Given the description of an element on the screen output the (x, y) to click on. 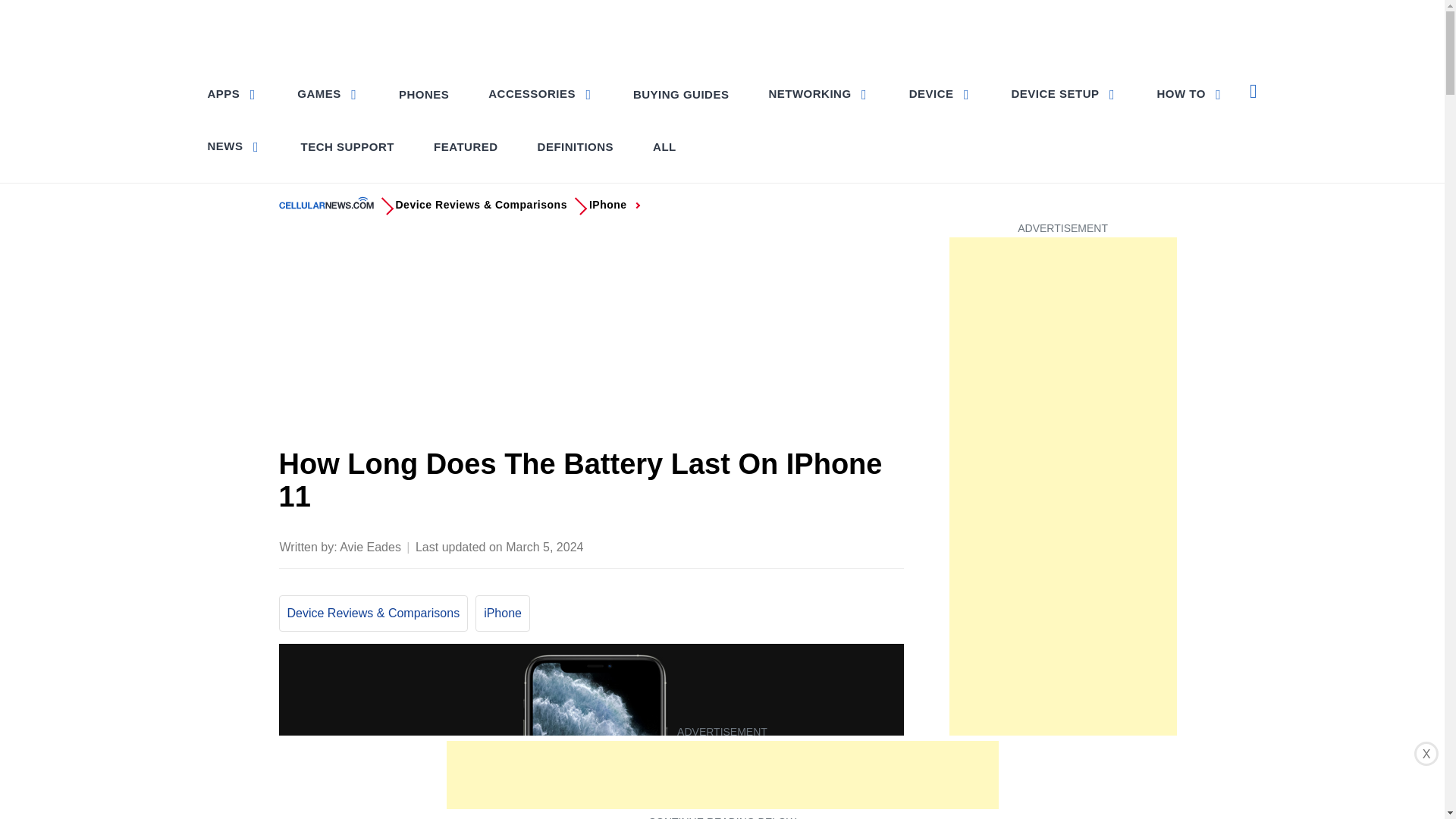
PHONES (424, 94)
NETWORKING (818, 93)
Share on twitter (769, 544)
Advertisement (591, 336)
Share on facebook (740, 544)
GAMES (327, 93)
BUYING GUIDES (681, 94)
Copy to Clipboard (860, 544)
DEVICE (940, 93)
APPS (233, 93)
